Given the description of an element on the screen output the (x, y) to click on. 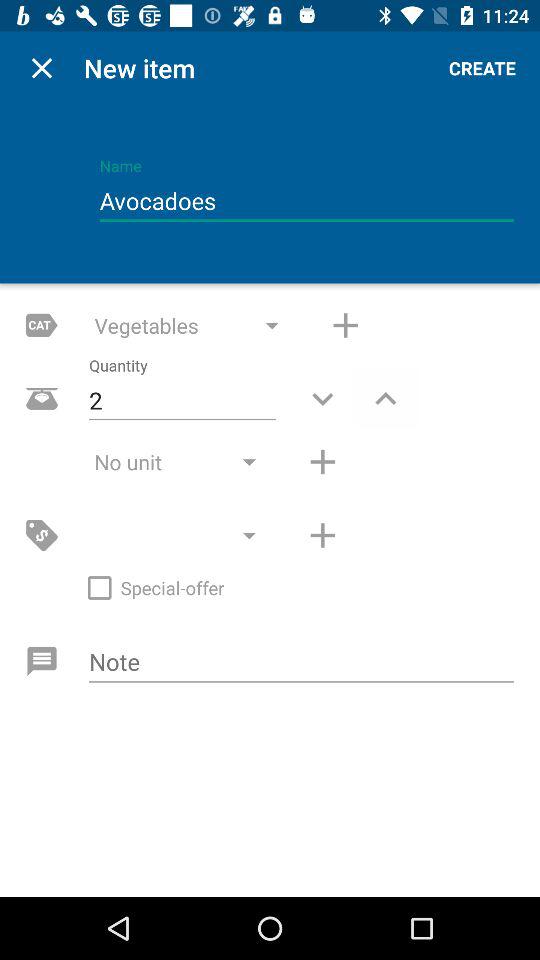
go to increase (345, 325)
